Given the description of an element on the screen output the (x, y) to click on. 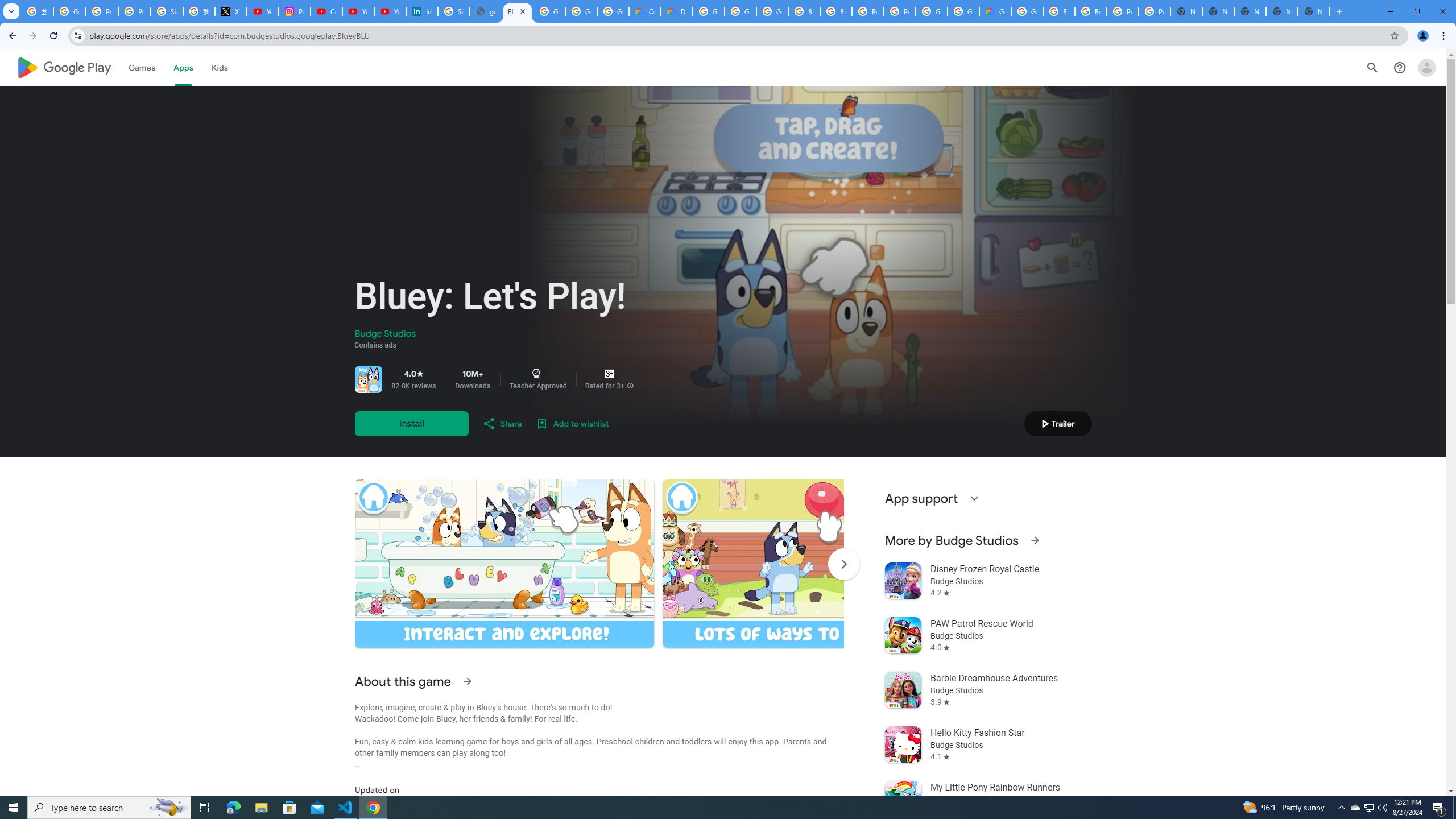
Google Workspace - Specific Terms (613, 11)
Play trailer (1058, 423)
X (230, 11)
More info about this content rating (630, 385)
Privacy Help Center - Policies Help (134, 11)
Open account menu (1426, 67)
Google Cloud Platform (963, 11)
Google Cloud Estimate Summary (995, 11)
